Given the description of an element on the screen output the (x, y) to click on. 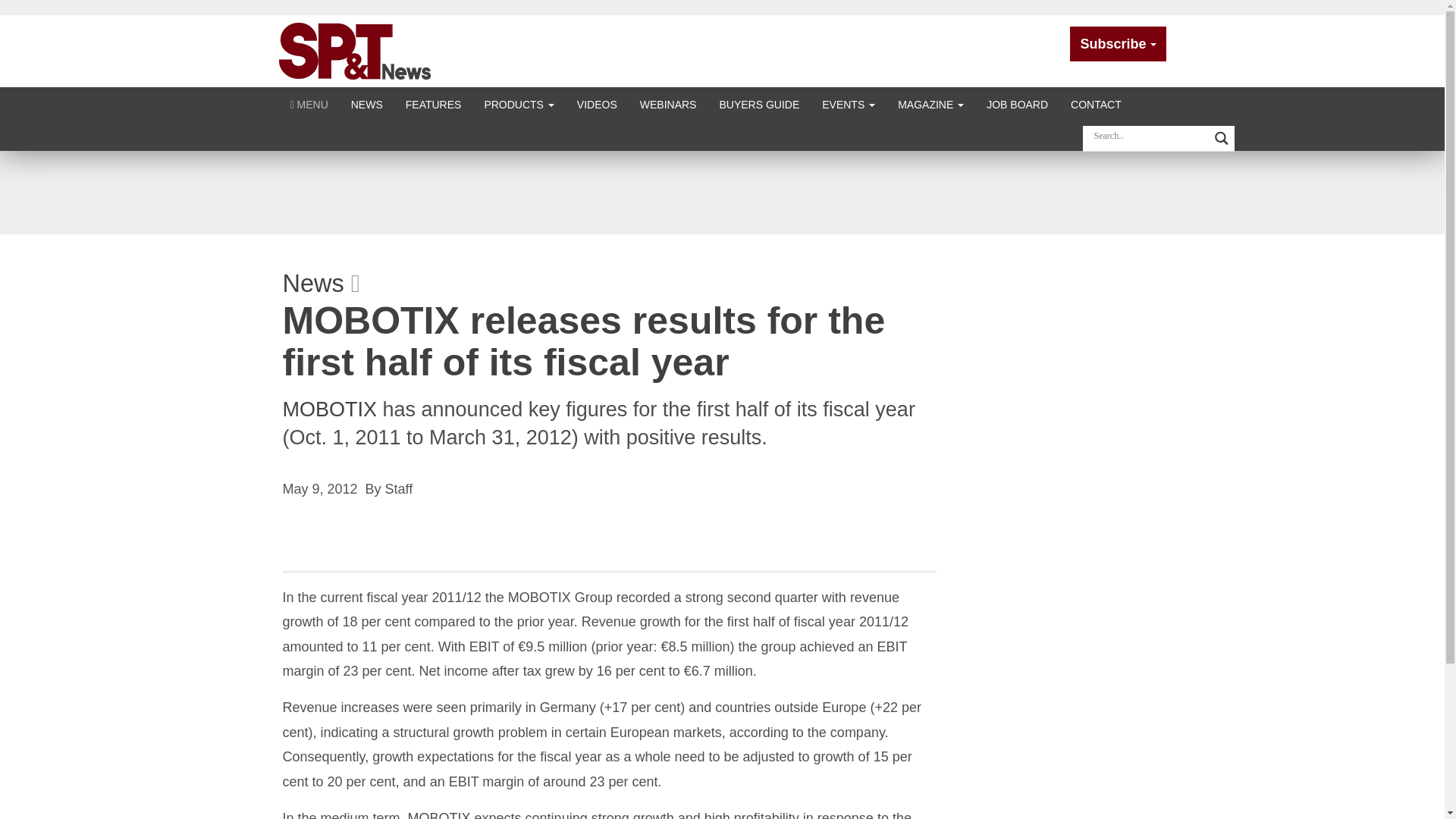
WEBINARS (667, 103)
EVENTS (848, 103)
CONTACT (1095, 103)
MENU (309, 103)
VIDEOS (597, 103)
FEATURES (433, 103)
BUYERS GUIDE (758, 103)
3rd party ad content (721, 192)
PRODUCTS (517, 103)
Subscribe (1118, 43)
